Given the description of an element on the screen output the (x, y) to click on. 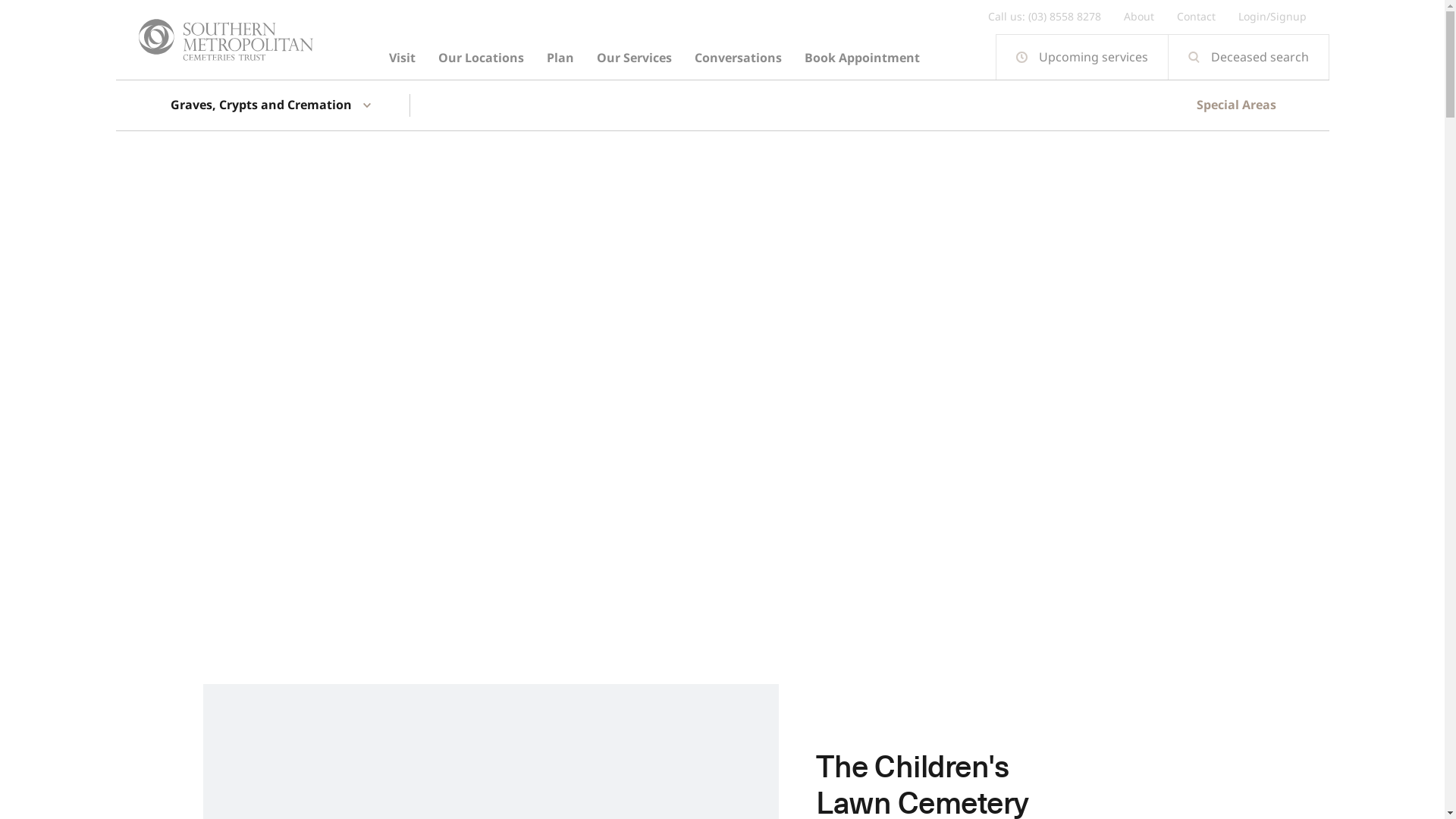
Plan Element type: text (560, 58)
Graves, Crypts and Cremation Element type: text (266, 105)
Login/Signup Element type: text (1271, 16)
Conversations Element type: text (737, 58)
Our Locations Element type: text (480, 58)
Deceased search Element type: text (1248, 56)
About Element type: text (1138, 16)
Upcoming services Element type: text (1080, 56)
Our Services Element type: text (634, 58)
Special Areas Element type: text (1236, 104)
Call us: (03) 8558 8278 Element type: text (1043, 16)
Visit Element type: text (401, 58)
Book Appointment Element type: text (862, 58)
Southern Metropolitan Cemeteries Trust Element type: text (225, 39)
Contact Element type: text (1195, 16)
